Given the description of an element on the screen output the (x, y) to click on. 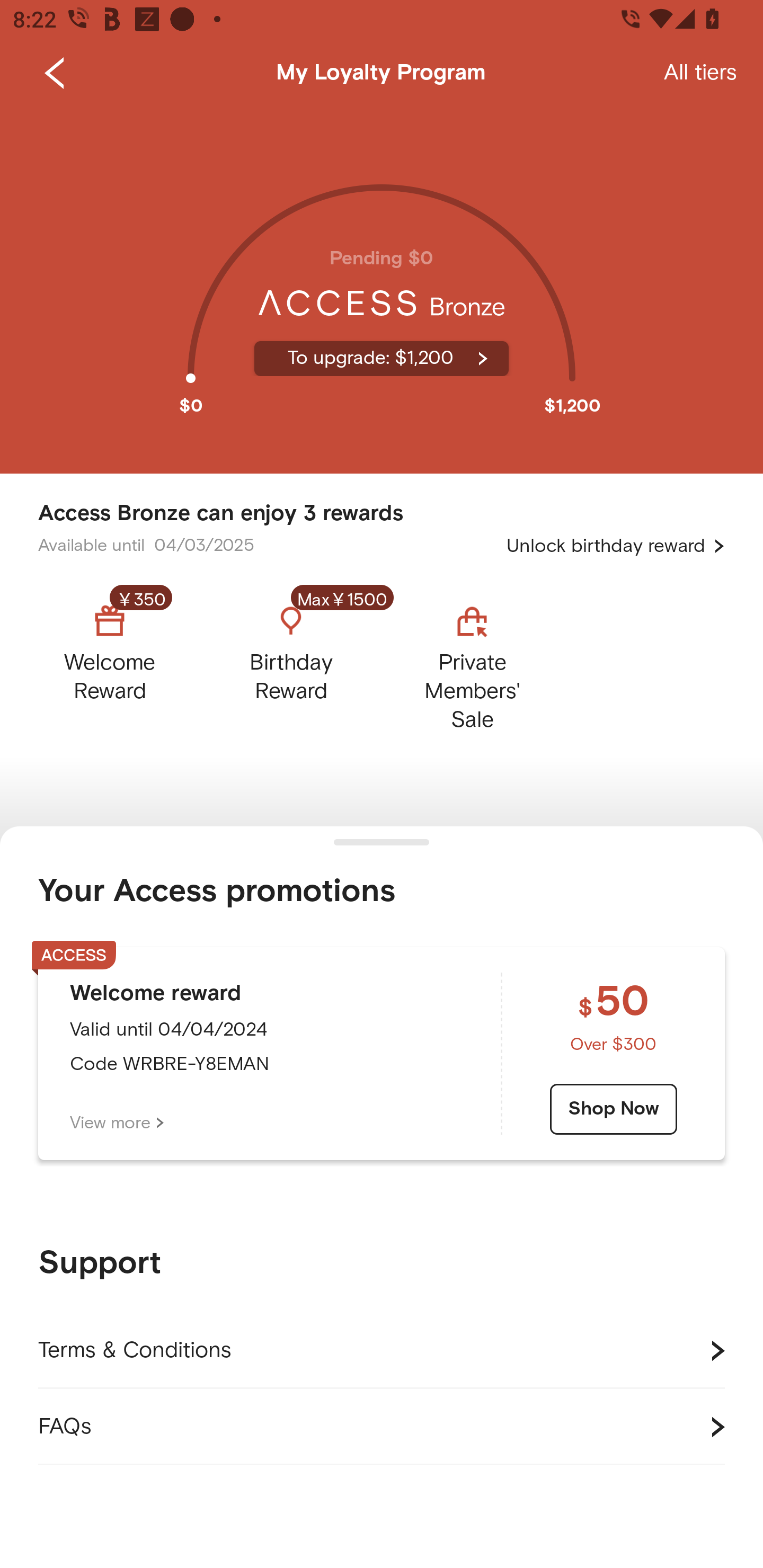
All tiers (700, 72)
Pending $0 To upgrade: $1,200 $0 $1,200 (381, 290)
Unlock birthday reward (615, 546)
￥350 Welcome Reward (125, 662)
Max￥1500 Birthday Reward (290, 662)
Private Members' Sale (471, 662)
Shop Now (613, 1109)
View more (117, 1123)
Terms & Conditions (381, 1350)
FAQs (381, 1426)
